Given the description of an element on the screen output the (x, y) to click on. 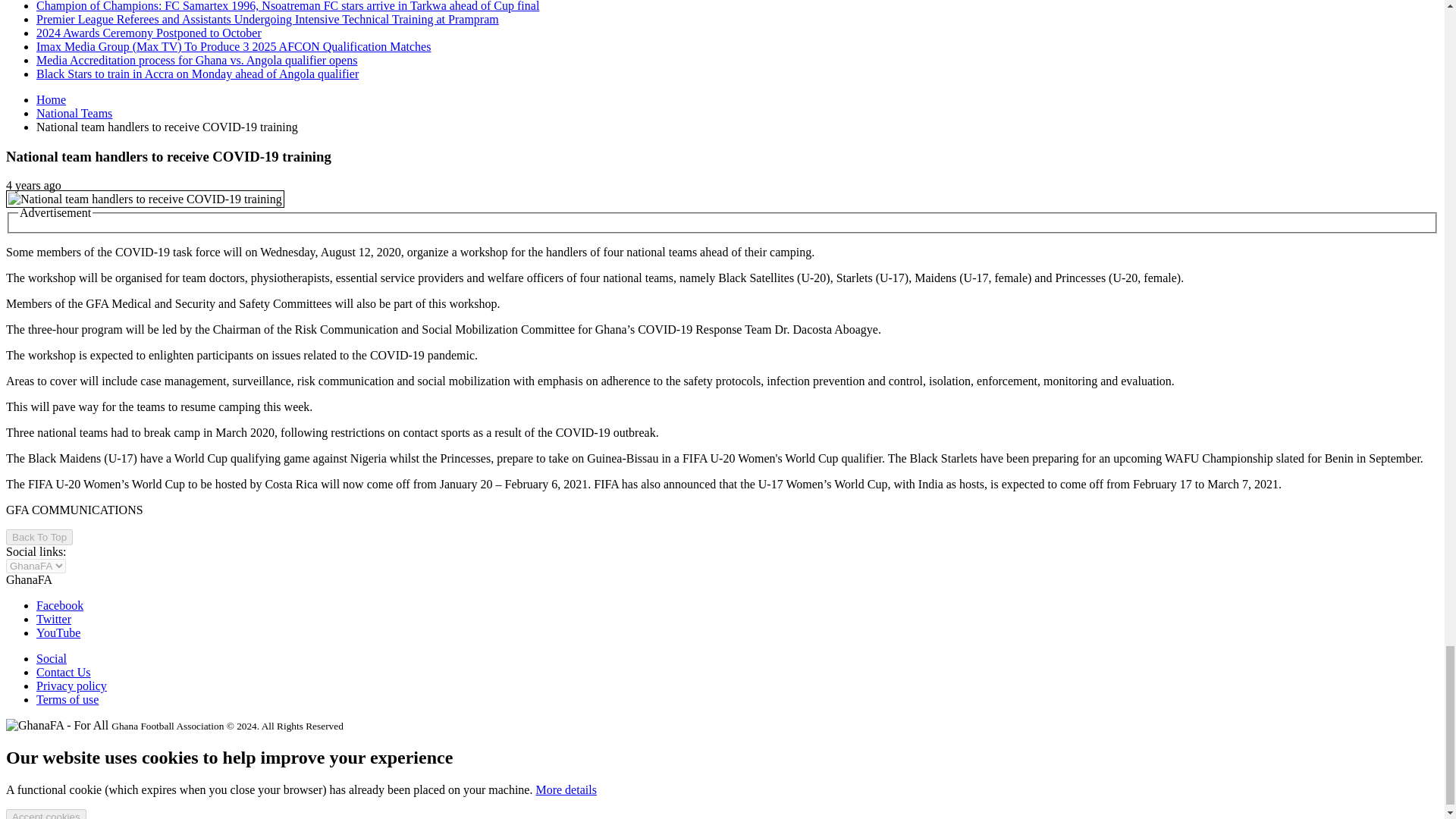
View the GhanaFA Twitter channel (53, 618)
View the GhanaFA YouTube channel (58, 632)
View the GhanaFA Facebook channel (59, 604)
